Given the description of an element on the screen output the (x, y) to click on. 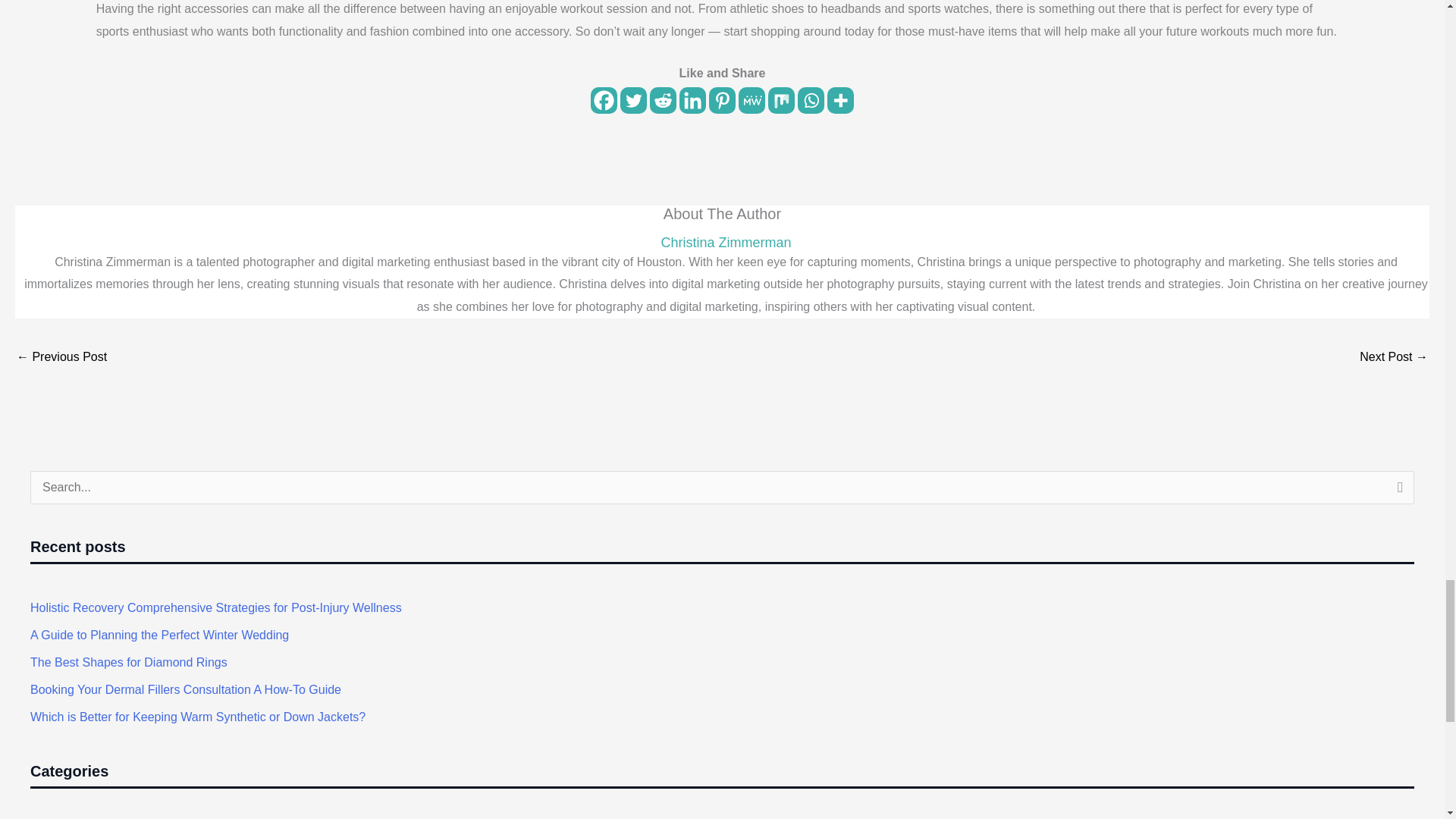
Pinterest (722, 99)
Whatsapp (810, 99)
Facebook (604, 99)
MeWe (751, 99)
More (840, 99)
A Guide to Planning the Perfect Winter Wedding (159, 634)
The Best Shapes for Diamond Rings (128, 662)
Booking Your Dermal Fillers Consultation A How-To Guide (185, 689)
